Given the description of an element on the screen output the (x, y) to click on. 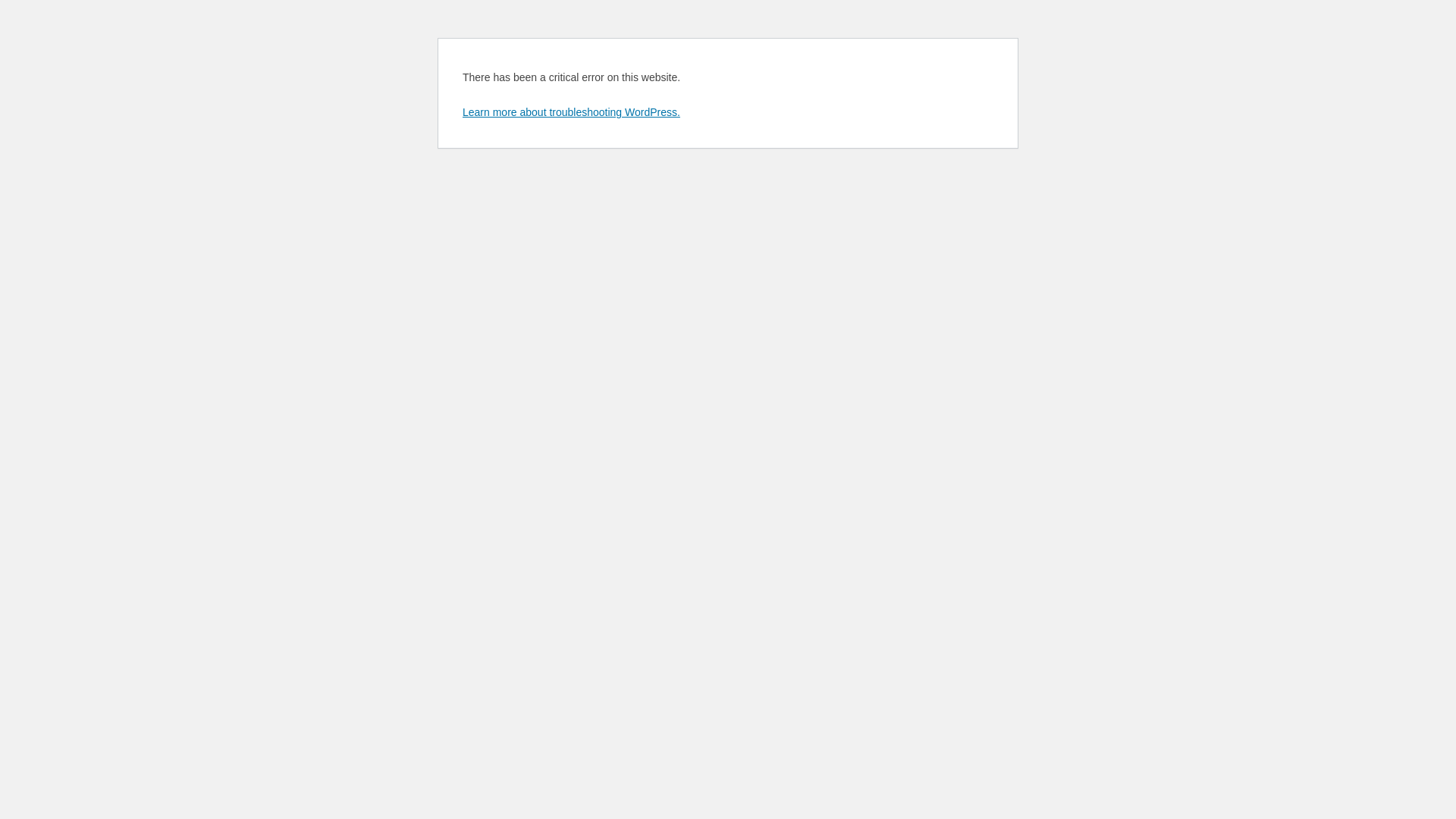
Learn more about troubleshooting WordPress. Element type: text (571, 112)
